Given the description of an element on the screen output the (x, y) to click on. 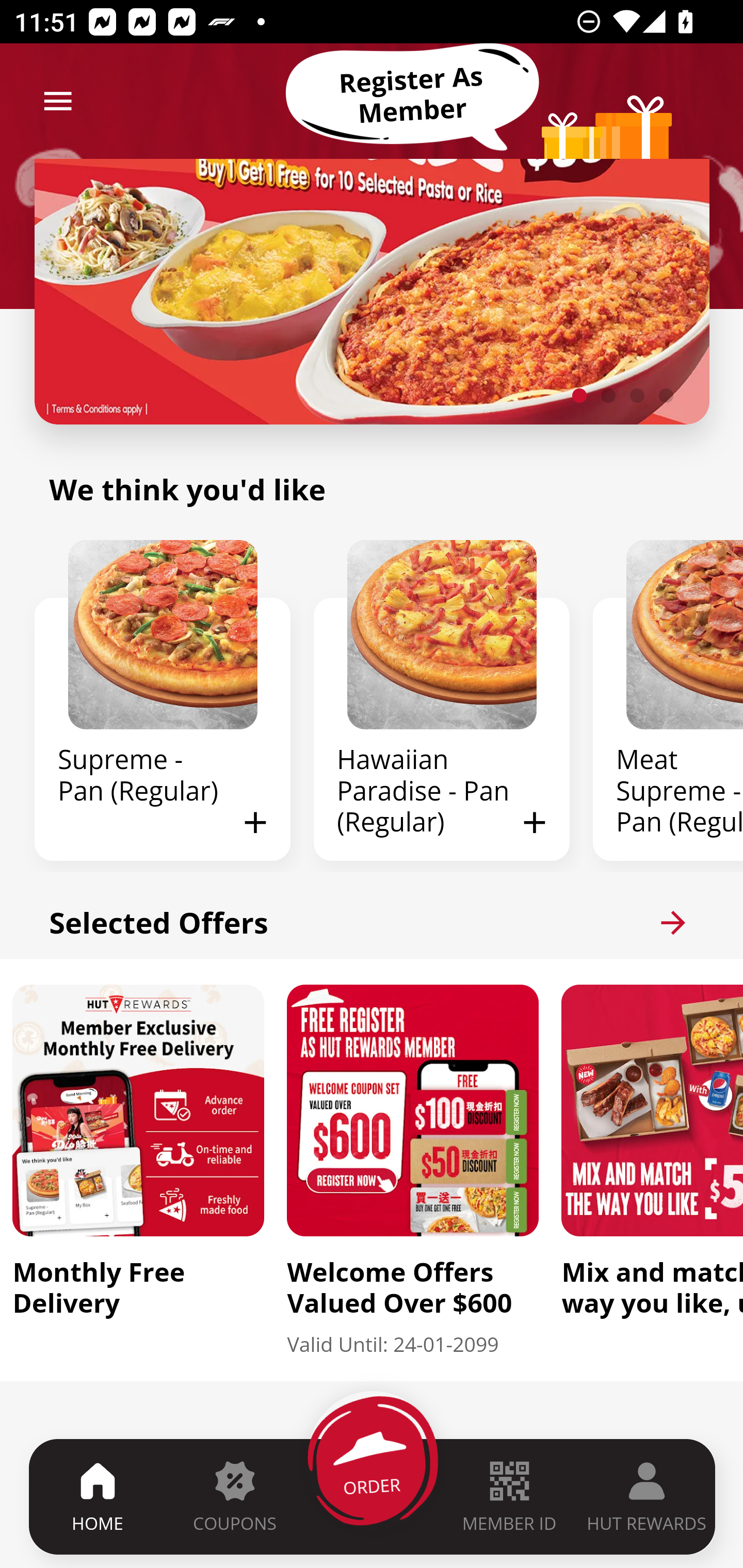
Register As Member (411, 95)
menu (58, 100)
arrow_forward (672, 922)
HOME (97, 1496)
COUPONS (234, 1496)
ORDER (372, 1496)
MEMBER ID (509, 1496)
HUT REWARDS (647, 1496)
